Given the description of an element on the screen output the (x, y) to click on. 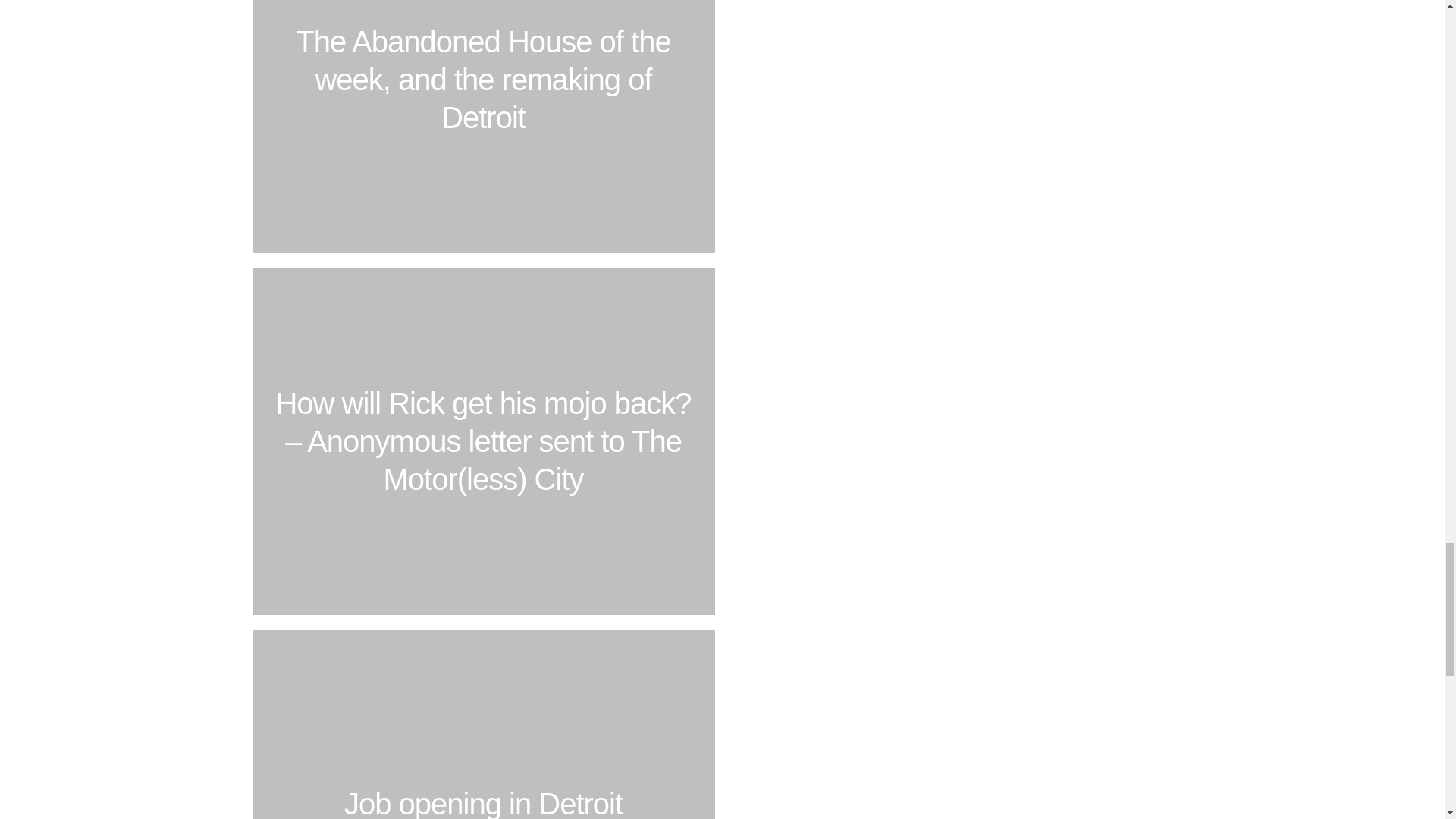
Job opening in Detroit (483, 720)
The Abandoned House of the week, and the remaking of Detroit (483, 130)
Job opening in Detroit (483, 720)
The Abandoned House of the week, and the remaking of Detroit (483, 130)
